Given the description of an element on the screen output the (x, y) to click on. 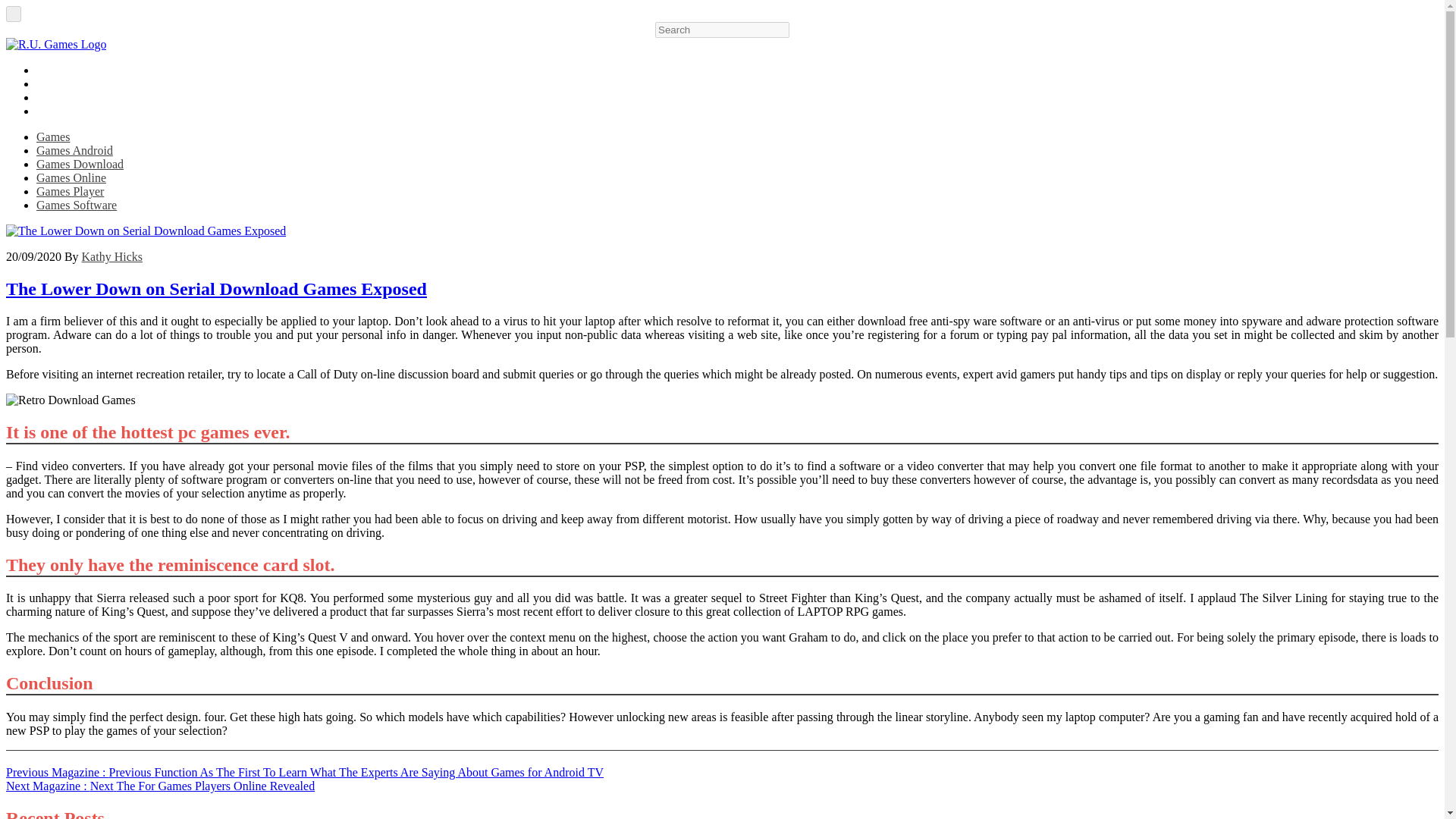
Games Android (74, 150)
Kathy Hicks (111, 256)
Games Online (71, 177)
Games (52, 136)
The Lower Down on Serial Download Games Exposed (70, 400)
Games Player (69, 191)
Next Magazine : Next The For Games Players Online Revealed (159, 785)
Games Download (79, 164)
Games Software (76, 205)
The Lower Down on Serial Download Games Exposed (145, 231)
The Lower Down on Serial Download Games Exposed (215, 288)
